Given the description of an element on the screen output the (x, y) to click on. 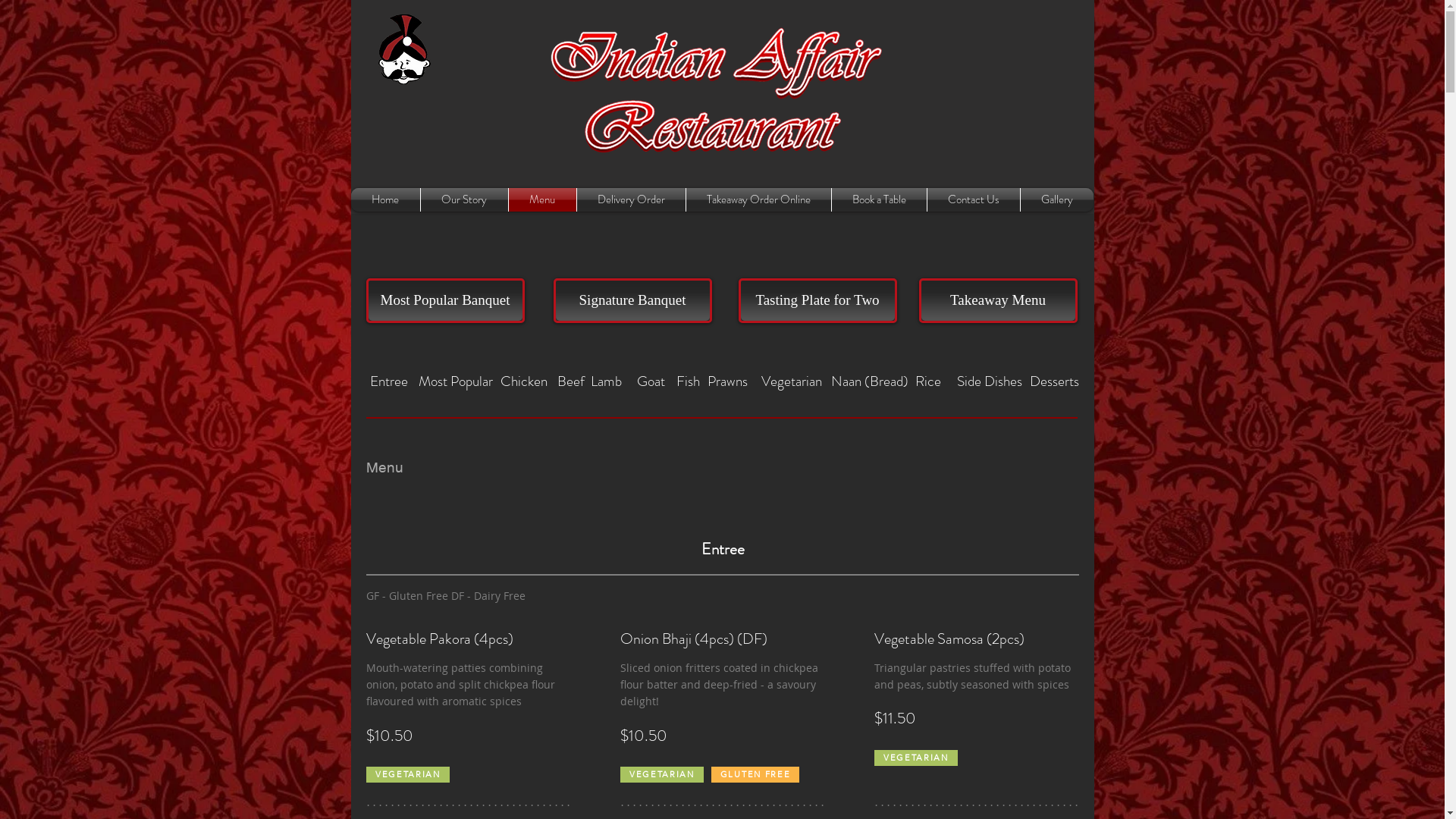
Vegetarian Element type: text (790, 381)
Takeaway Order Online Element type: text (757, 199)
Fish Element type: text (688, 381)
Signature Banquet Element type: text (632, 300)
Menu Element type: text (541, 199)
Beef Element type: text (569, 381)
Gallery Element type: text (1056, 199)
Our Story Element type: text (463, 199)
Book a Table Element type: text (878, 199)
Tasting Plate for Two Element type: text (817, 300)
Contact Us Element type: text (972, 199)
Side Dishes Element type: text (988, 381)
Goat Element type: text (650, 381)
Takeaway Menu Element type: text (998, 300)
Lamb Element type: text (605, 381)
Prawns Element type: text (727, 381)
Rice Element type: text (927, 381)
Entree Element type: text (388, 381)
Home Element type: text (384, 199)
red phag.png Element type: hover (403, 49)
Chicken Element type: text (523, 381)
Most Popular Banquet Element type: text (444, 300)
Delivery Order Element type: text (630, 199)
Desserts Element type: text (1054, 381)
Naan (Bread) Element type: text (869, 381)
Most Popular Element type: text (455, 381)
